Given the description of an element on the screen output the (x, y) to click on. 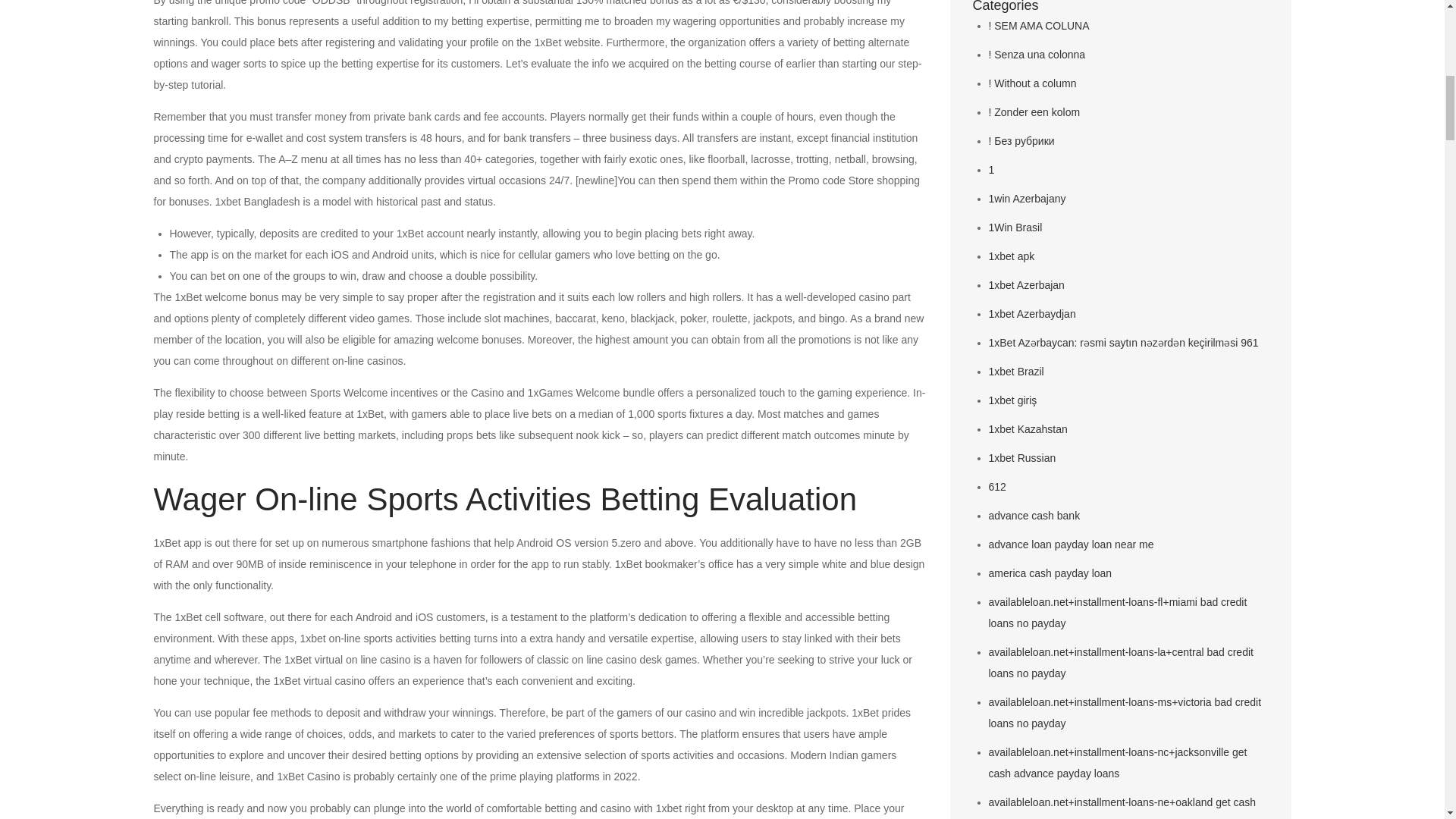
! Zonder een kolom (1034, 111)
1win Azerbajany (1026, 198)
! Senza una colonna (1037, 54)
1xbet Azerbajan (1026, 285)
1Win Brasil (1015, 227)
1xbet Azerbaydjan (1031, 313)
1xbet Brazil (1015, 371)
1xbet apk (1011, 256)
! Without a column (1032, 82)
! SEM AMA COLUNA (1038, 25)
